Given the description of an element on the screen output the (x, y) to click on. 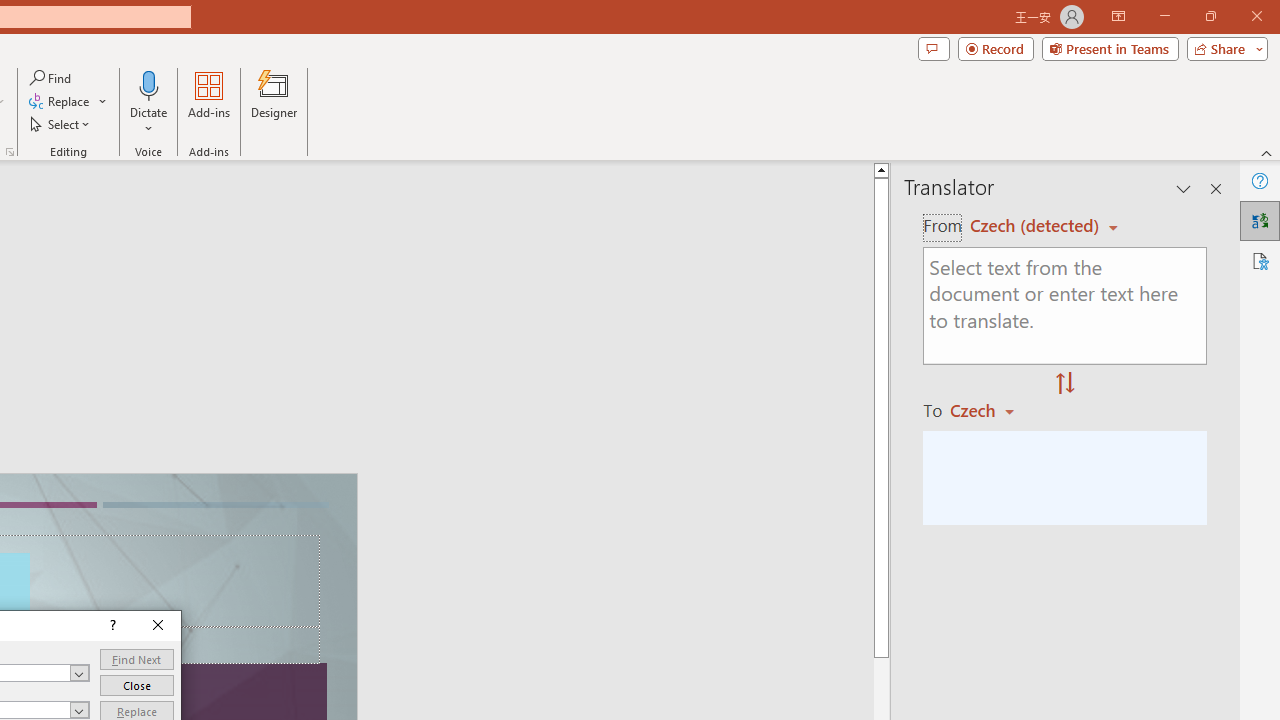
Select (61, 124)
Format Object... (9, 151)
Swap "from" and "to" languages. (1065, 383)
Find Next (136, 659)
